Given the description of an element on the screen output the (x, y) to click on. 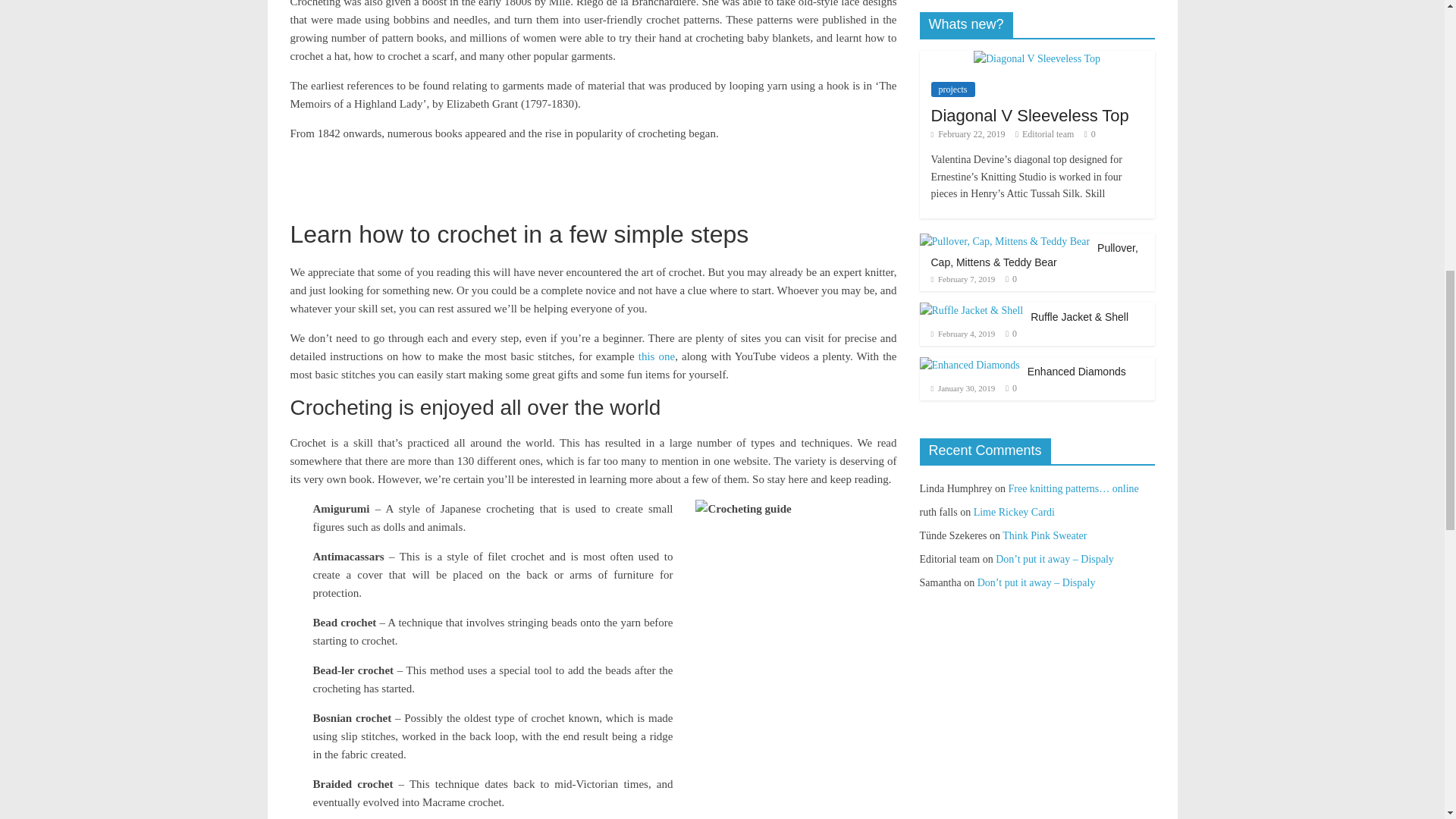
Diagonal V Sleeveless Top (1037, 58)
Diagonal V Sleeveless Top (1037, 58)
February 7, 2019 (963, 278)
Diagonal V Sleeveless Top (1030, 115)
Editorial team (1048, 133)
projects (953, 89)
Editorial team (1048, 133)
Diagonal V Sleeveless Top (1030, 115)
10:14 am (968, 133)
February 22, 2019 (968, 133)
this one (657, 356)
